Given the description of an element on the screen output the (x, y) to click on. 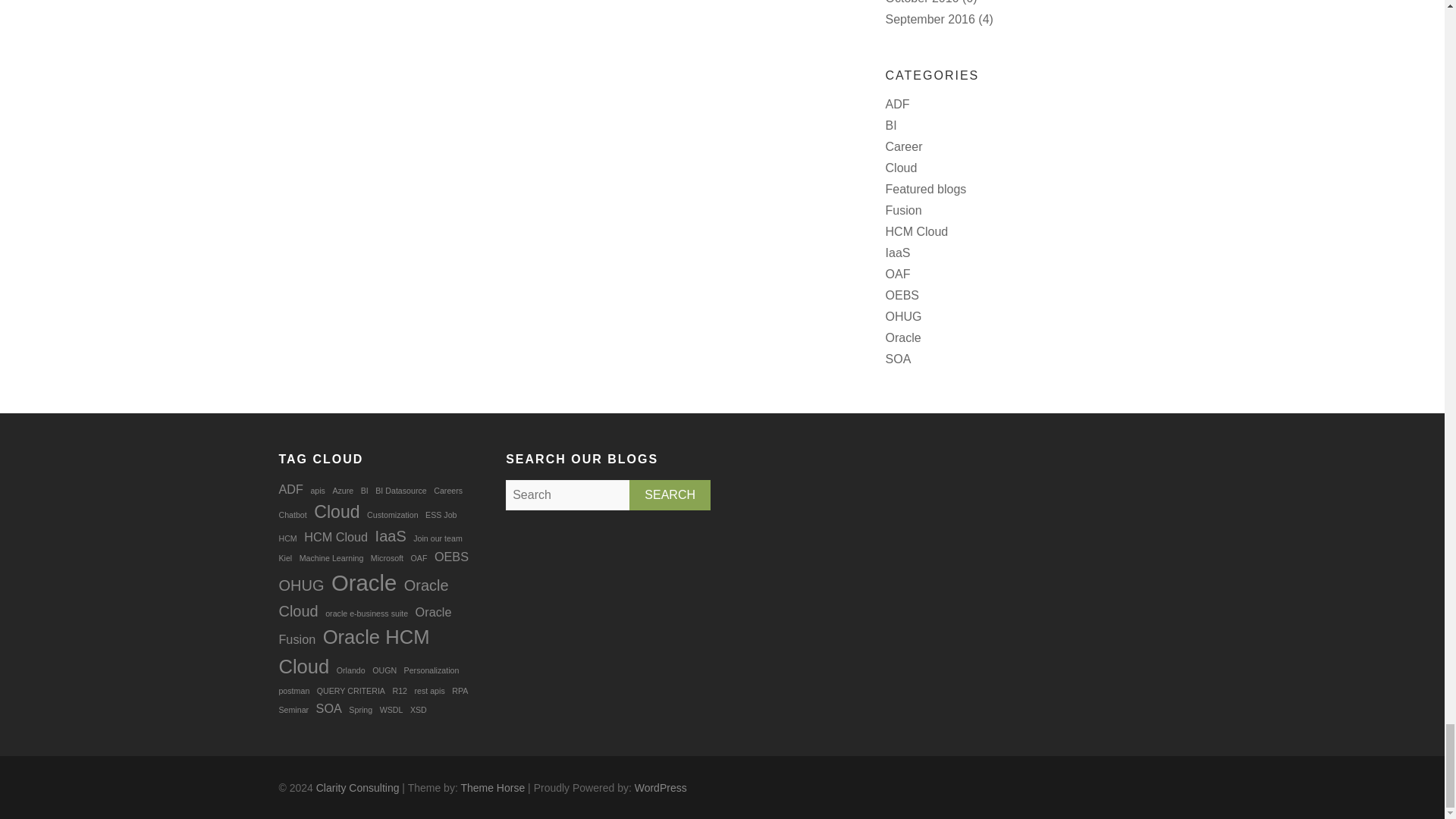
October 2016 (922, 2)
Featured blogs (925, 188)
Fusion (903, 210)
Career (904, 146)
Cloud (901, 167)
IaaS (898, 252)
Search (669, 494)
September 2016 (930, 19)
OAF (898, 273)
ADF (897, 103)
WordPress (660, 787)
Clarity Consulting (356, 787)
Search (669, 494)
BI (890, 124)
Theme Horse (492, 787)
